Given the description of an element on the screen output the (x, y) to click on. 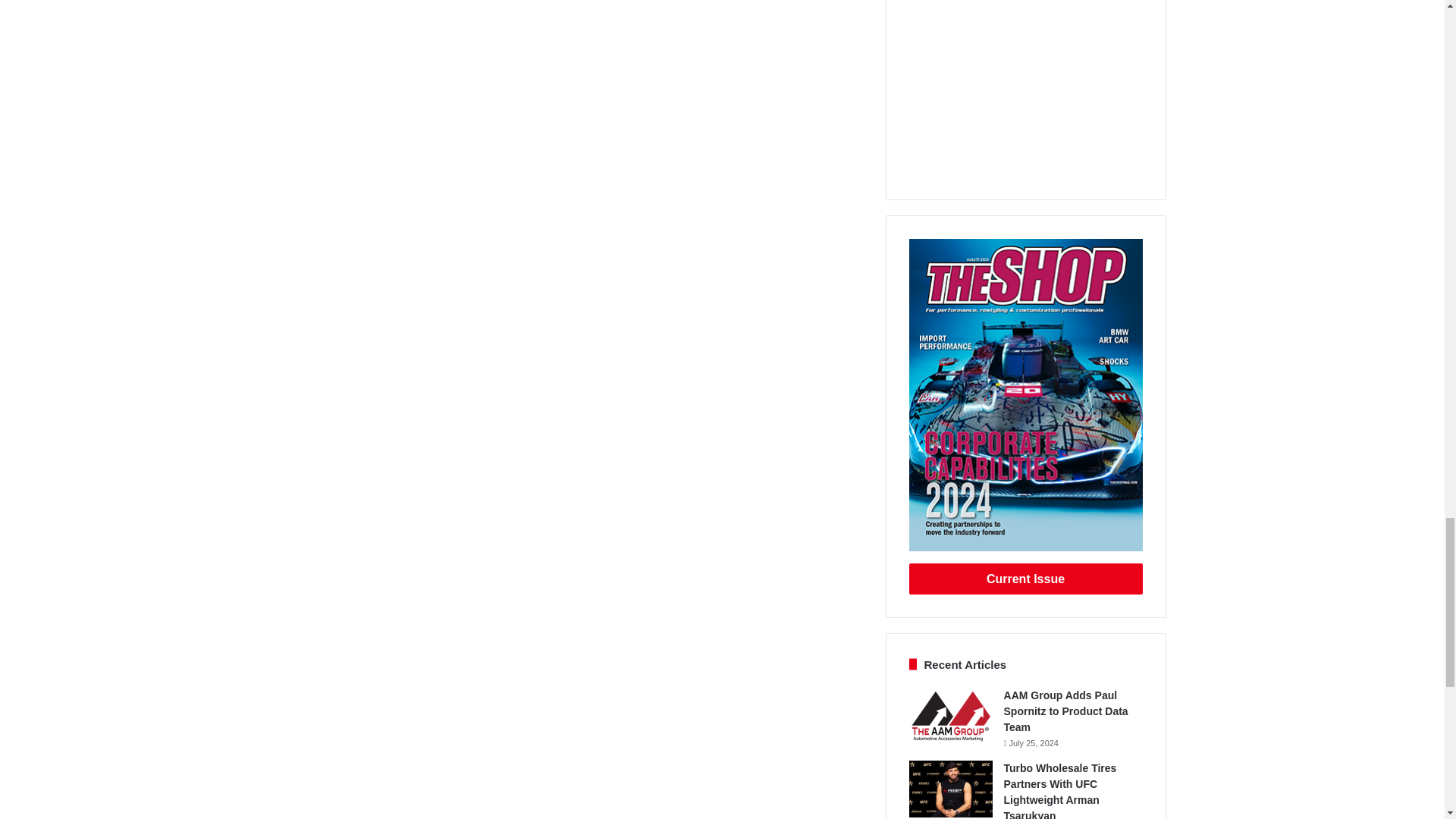
3rd party ad content (1024, 88)
